Given the description of an element on the screen output the (x, y) to click on. 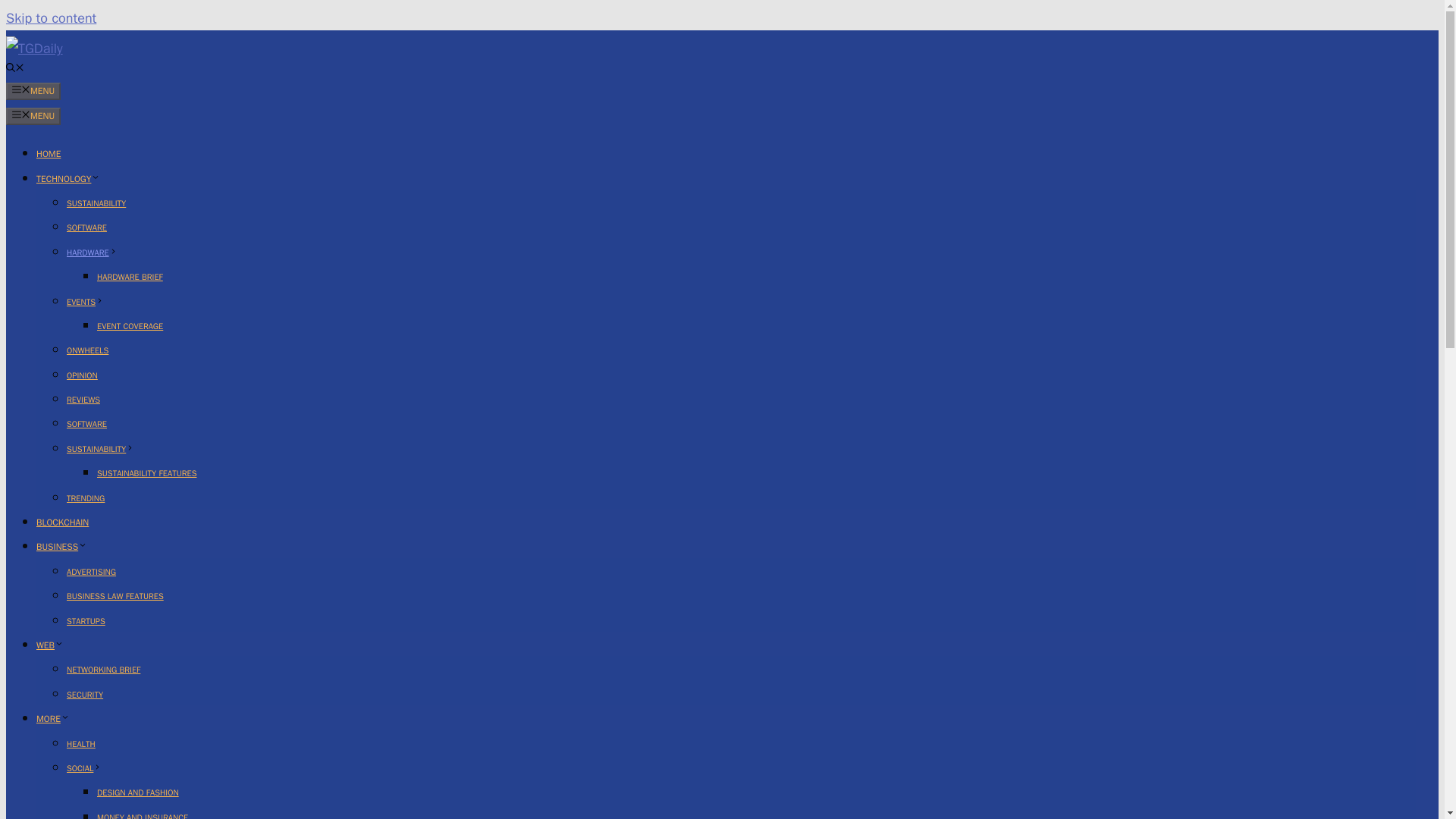
ADVERTISING (91, 571)
OPINION (81, 375)
HEALTH (81, 743)
BLOCKCHAIN (62, 522)
Skip to content (50, 17)
NETWORKING BRIEF (102, 669)
SECURITY (84, 694)
TRENDING (85, 498)
SUSTAINABILITY FEATURES (146, 472)
WEB (50, 645)
